Given the description of an element on the screen output the (x, y) to click on. 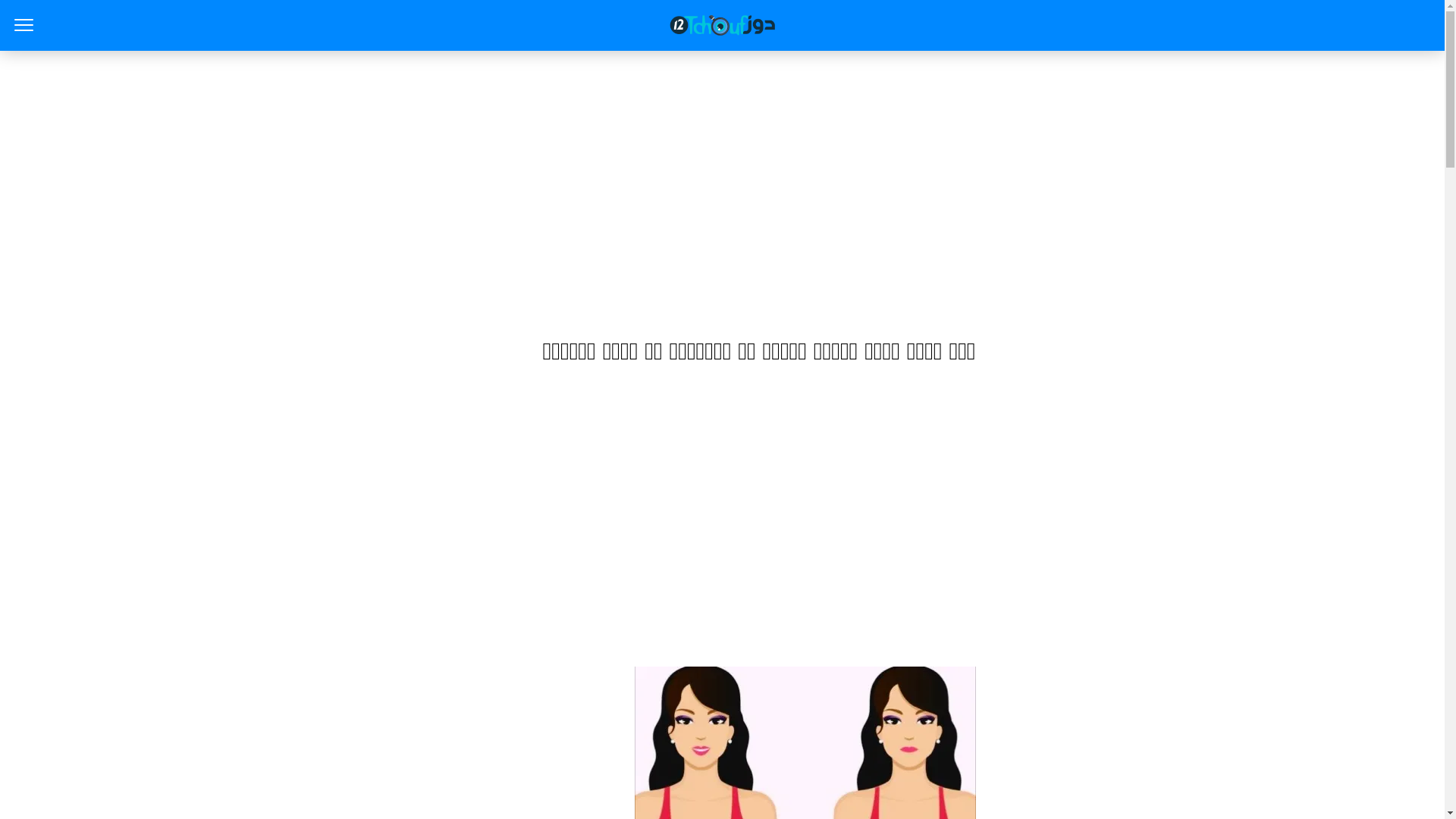
3rd party ad content Element type: hover (721, 519)
3rd party ad content Element type: hover (721, 190)
